Given the description of an element on the screen output the (x, y) to click on. 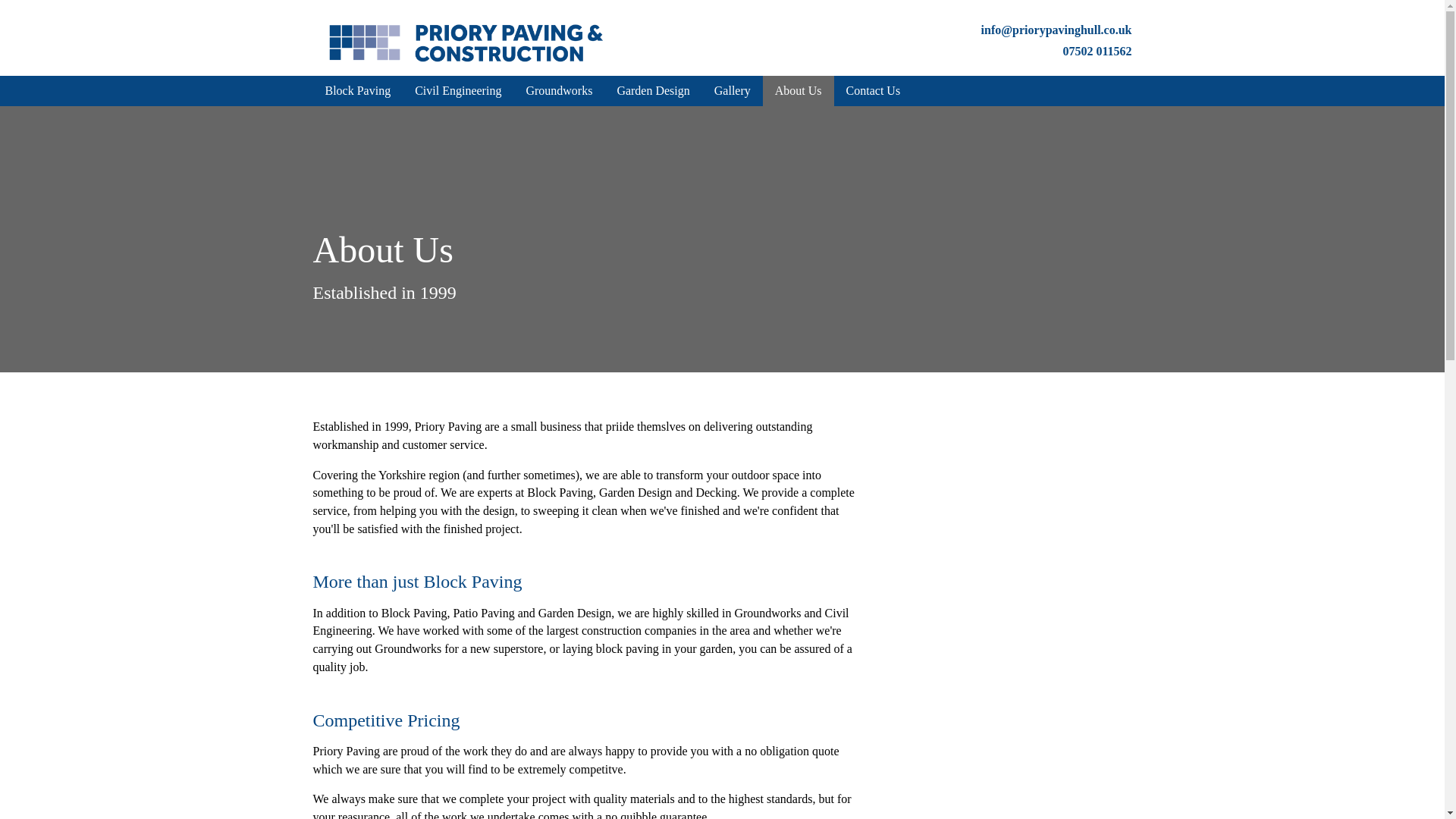
Block Paving (358, 91)
Groundworks (558, 91)
07502 011562 (1096, 51)
About Priory Paving Hull (998, 734)
Garden Design (652, 91)
About Priory Paving Hull (998, 539)
Gallery (731, 91)
About Us (798, 91)
Contact Us (873, 91)
Civil Engineering (458, 91)
